Given the description of an element on the screen output the (x, y) to click on. 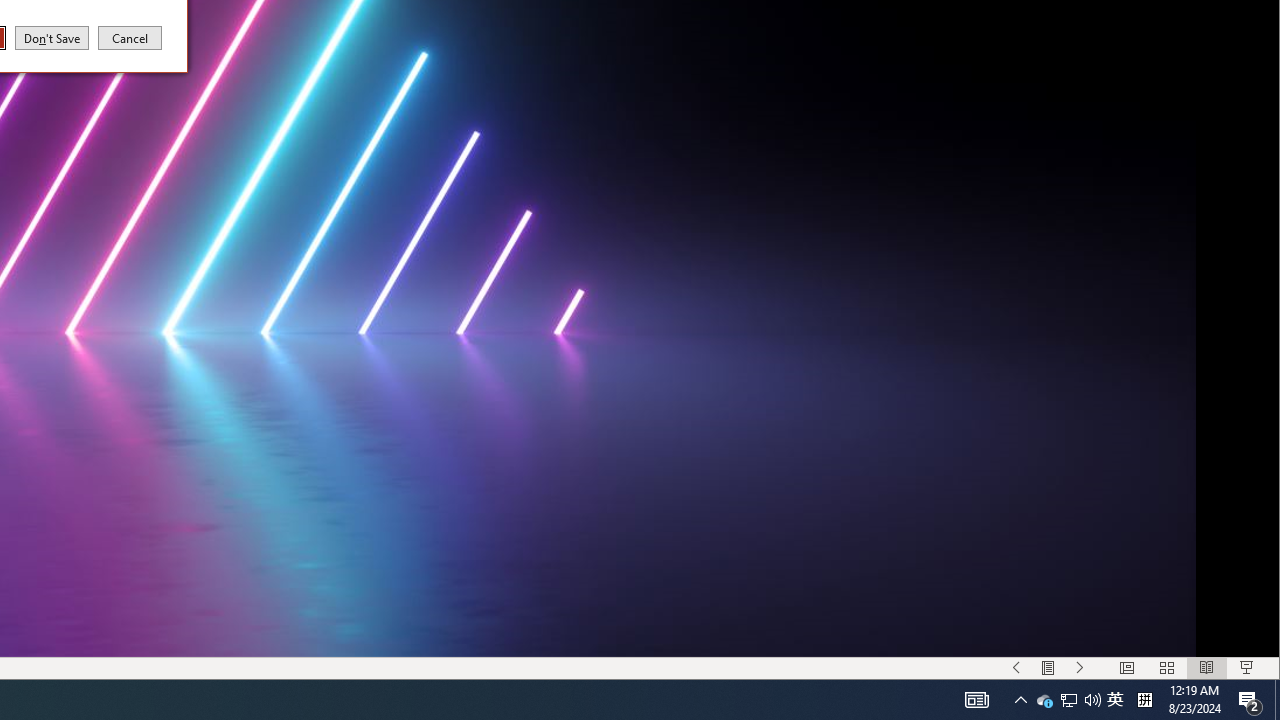
Don't Save (52, 37)
Notification Chevron (1020, 699)
Tray Input Indicator - Chinese (Simplified, China) (1115, 699)
Menu On (1069, 699)
AutomationID: 4105 (1144, 699)
Slide Show Previous On (1048, 668)
Action Center, 2 new notifications (976, 699)
Cancel (1016, 668)
User Promoted Notification Area (1250, 699)
